Given the description of an element on the screen output the (x, y) to click on. 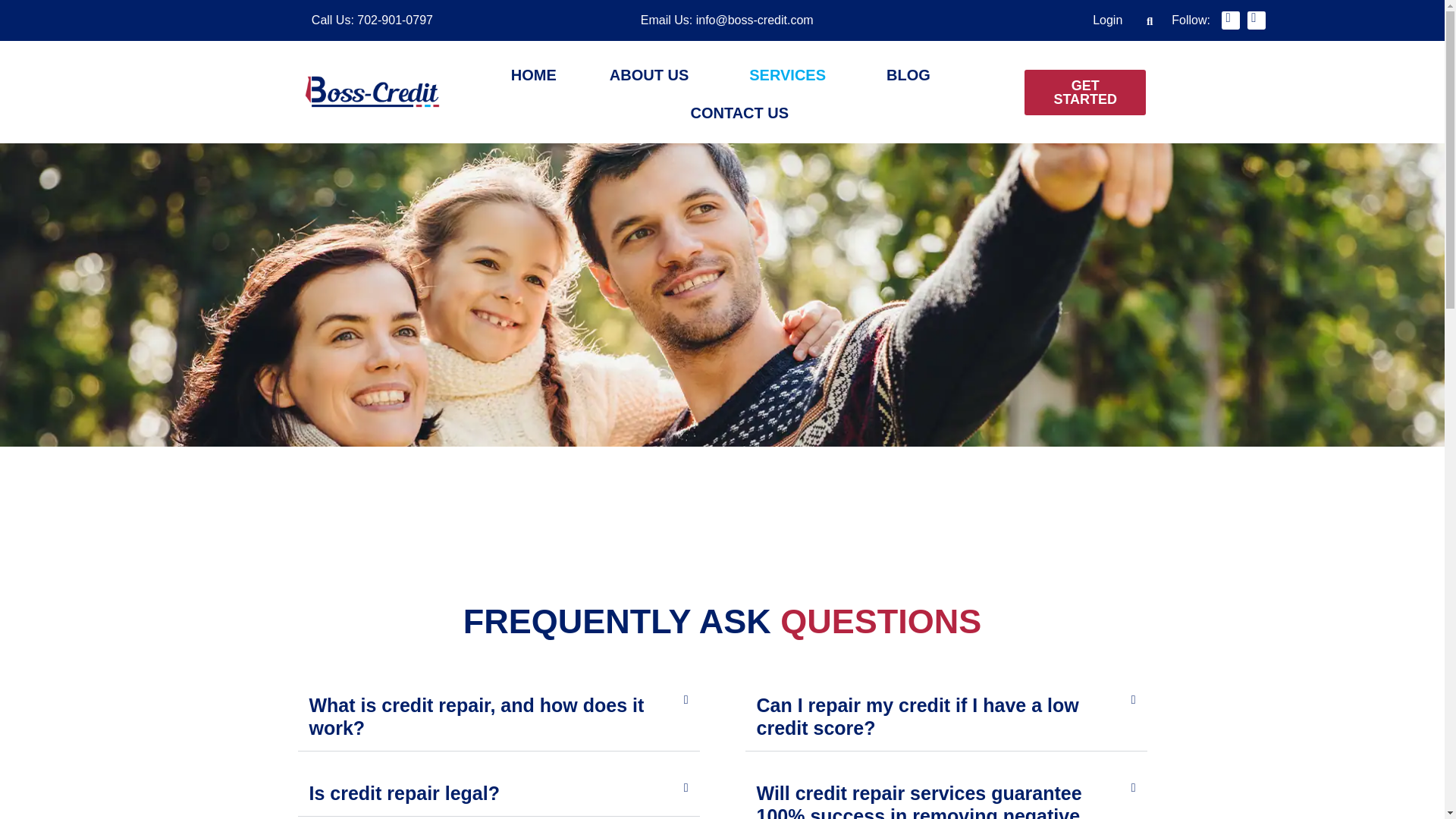
BLOG (908, 75)
CONTACT US (739, 112)
Instagram (1256, 20)
Facebook (1230, 20)
HOME (533, 75)
GET STARTED (1085, 92)
Is credit repair legal? (404, 792)
SERVICES (791, 75)
Login (1107, 19)
Call Us: 702-901-0797 (371, 19)
